Given the description of an element on the screen output the (x, y) to click on. 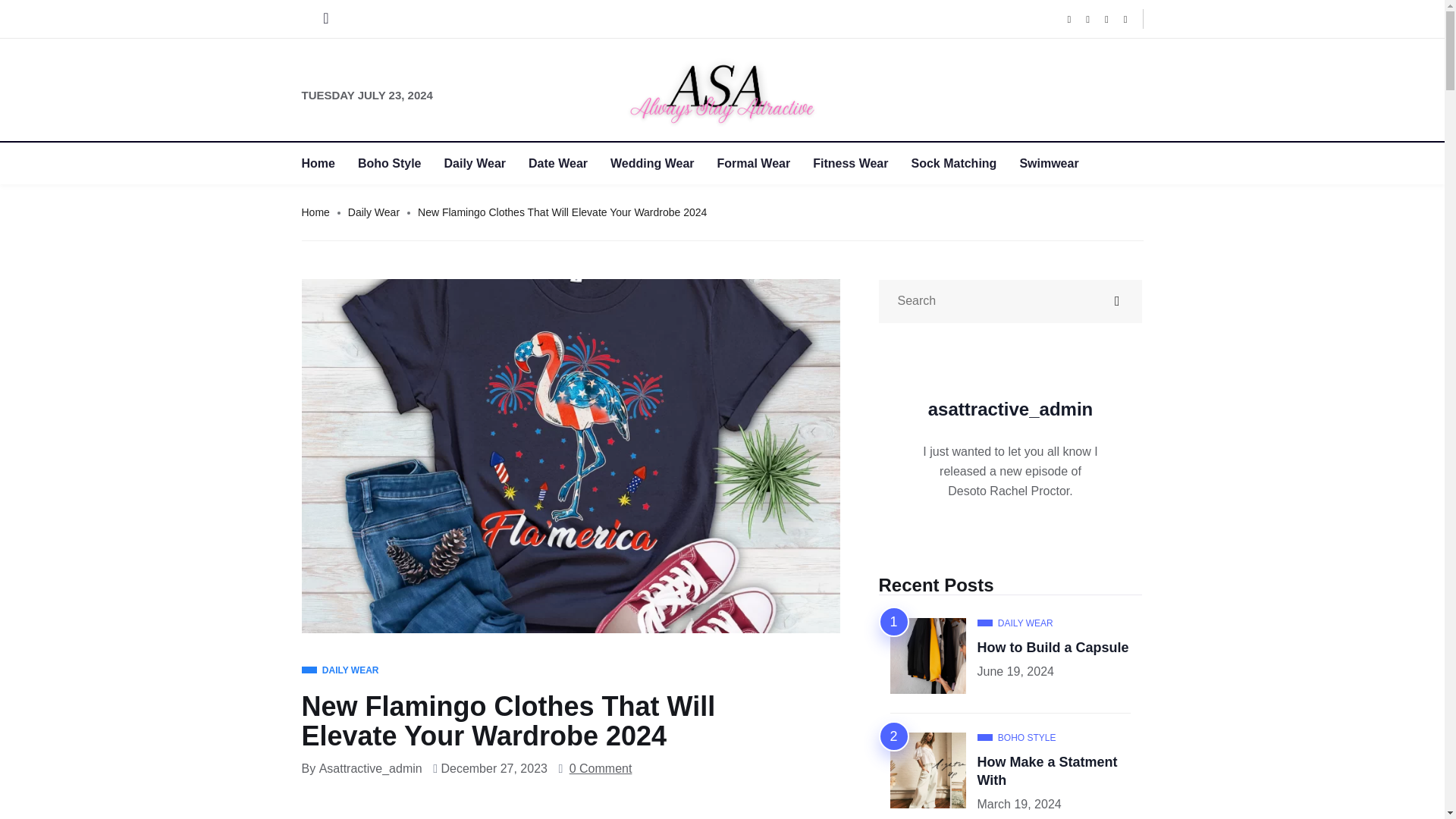
0 Comment (600, 768)
Wedding Wear (663, 163)
Home (329, 163)
DAILY WEAR (339, 670)
How Make a Statment With Bohemain New Look Fashion 2024 (1046, 770)
Swimwear (1059, 163)
Daily Wear (486, 163)
How to Build a Capsule Wardrobe: A Guide for Busy Women (1052, 647)
Sock Matching (965, 163)
Formal Wear (765, 163)
Date Wear (569, 163)
Daily Wear (372, 212)
Fitness Wear (861, 163)
Home (315, 212)
Boho Style (401, 163)
